Given the description of an element on the screen output the (x, y) to click on. 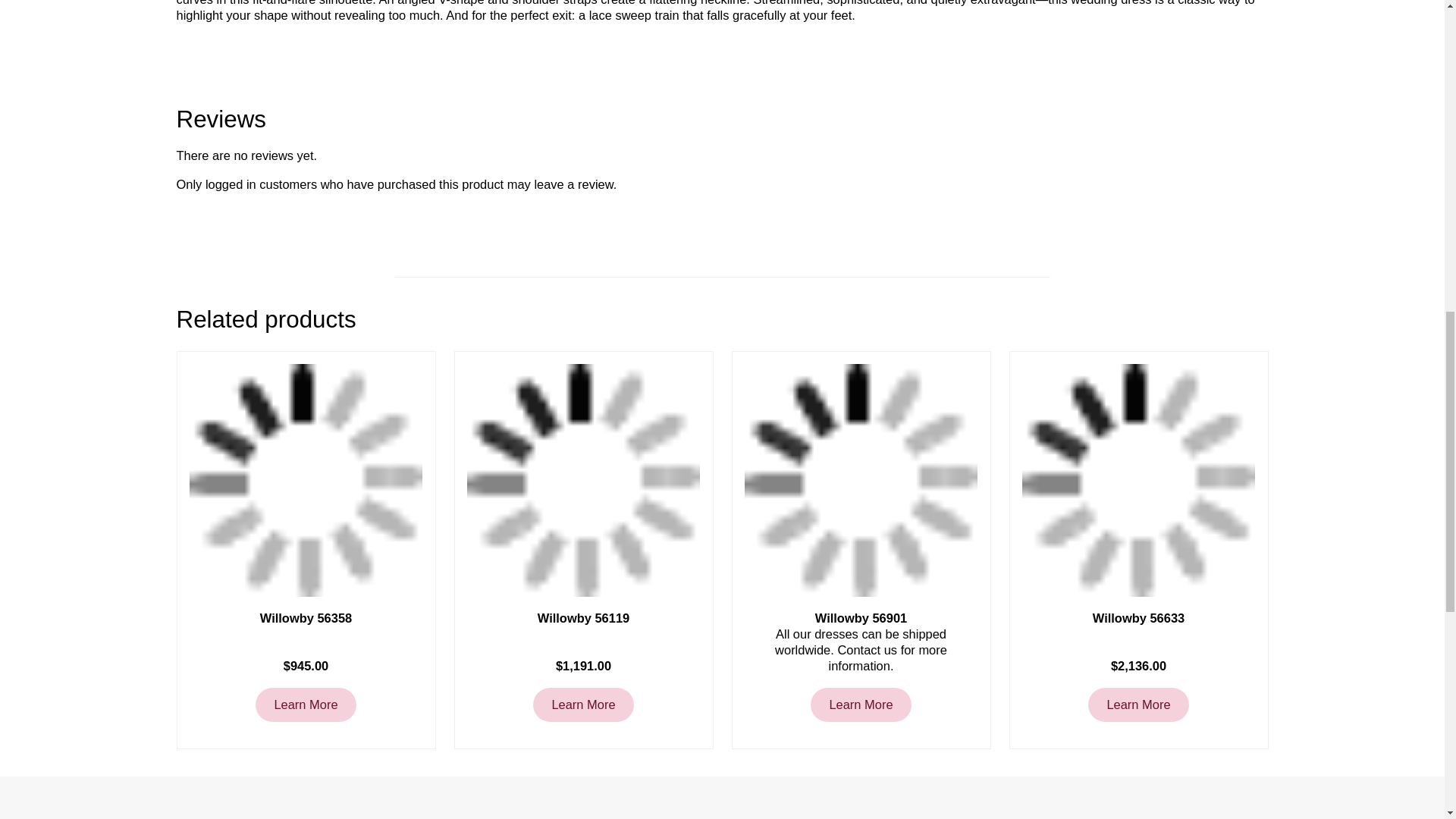
Learn More (860, 704)
Willowby 56901 (860, 618)
Willowby 56358 (305, 618)
Willowby 56119 (583, 618)
Learn More (582, 704)
Willowby 56633 (1138, 618)
Learn More (305, 704)
